Given the description of an element on the screen output the (x, y) to click on. 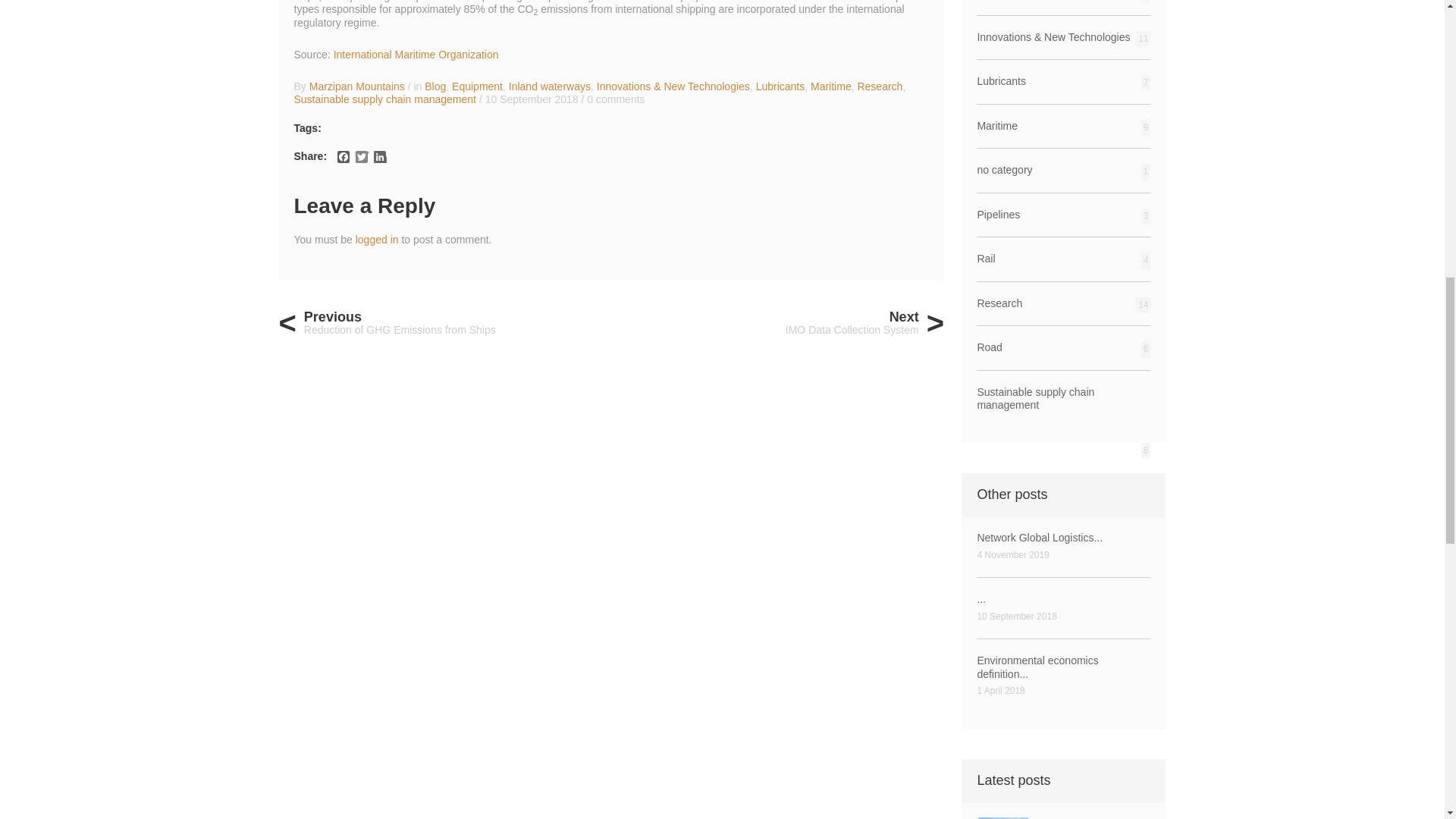
Maritime (830, 86)
Twitter (361, 156)
Twitter (361, 156)
International Maritime Organization (416, 54)
Equipment (476, 86)
Blog (435, 86)
Facebook (343, 156)
LinkedIn (379, 156)
Facebook (343, 156)
LinkedIn (379, 156)
